Given the description of an element on the screen output the (x, y) to click on. 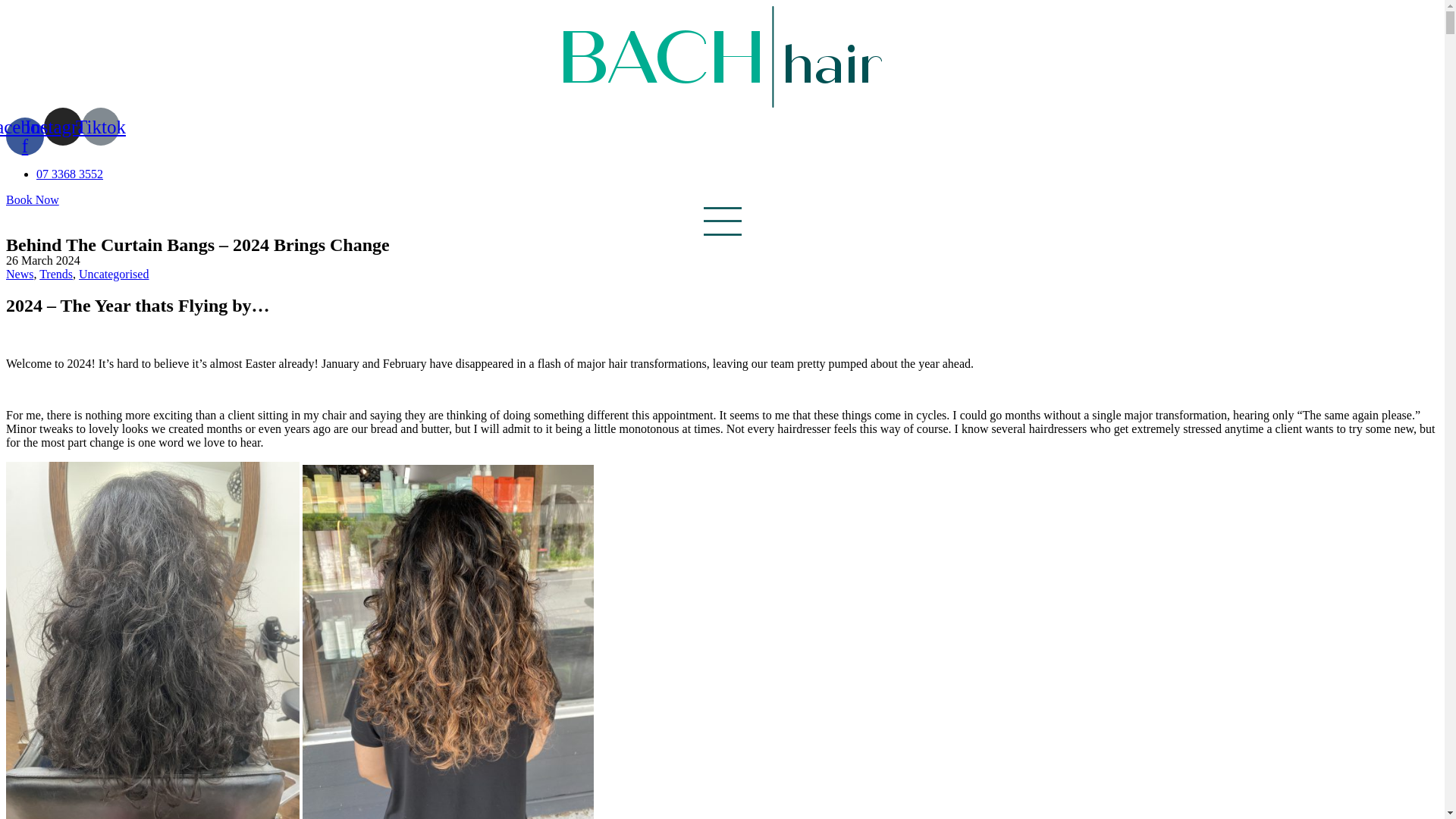
Uncategorised (113, 273)
Instagram (62, 126)
07 3368 3552 (69, 173)
Tiktok (100, 126)
Trends (55, 273)
Facebook-f (24, 135)
Book Now (32, 198)
News (19, 273)
